Given the description of an element on the screen output the (x, y) to click on. 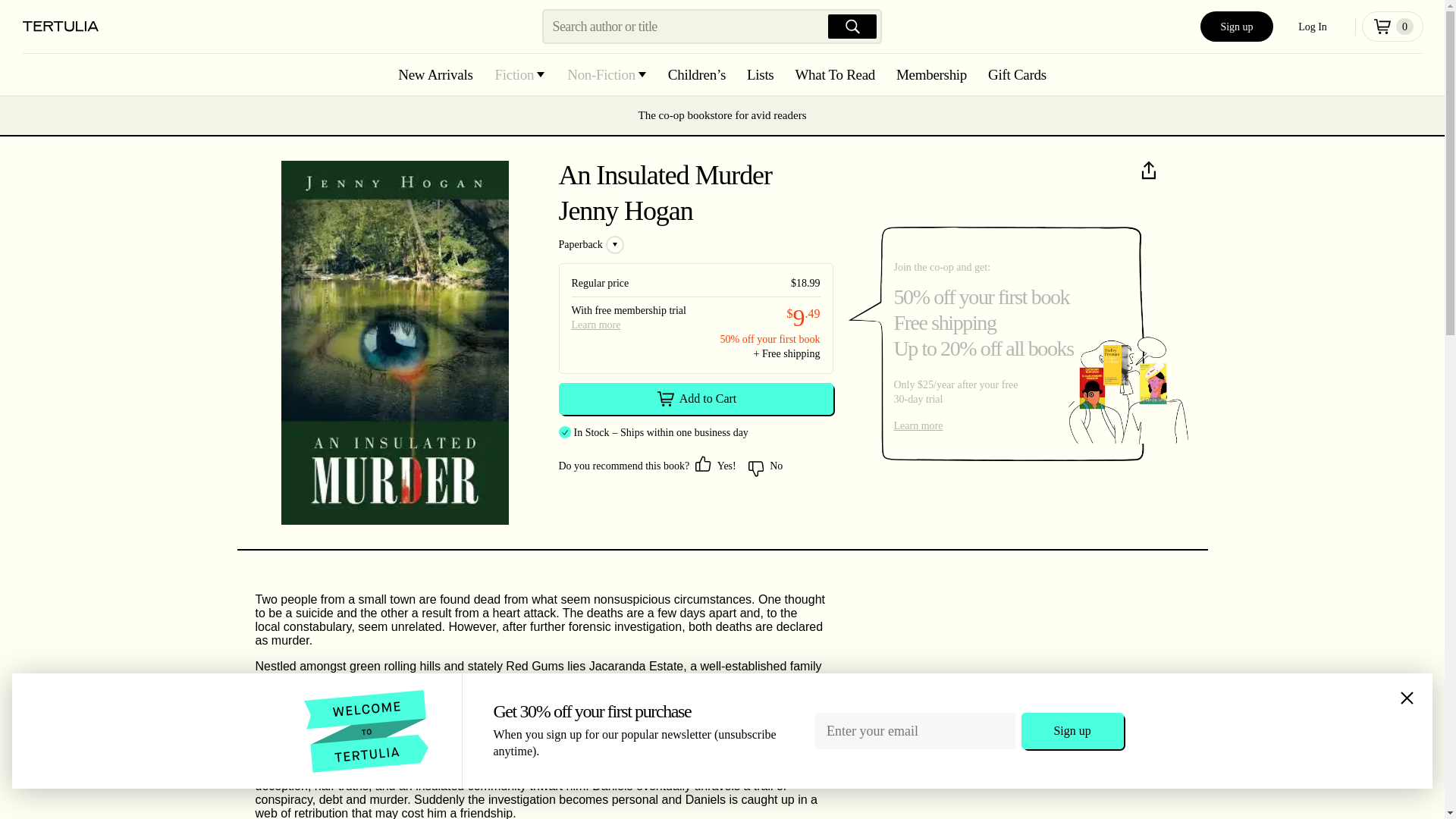
Availability: In Stock (590, 432)
Search (852, 26)
Books Worth Talking About (61, 26)
